Given the description of an element on the screen output the (x, y) to click on. 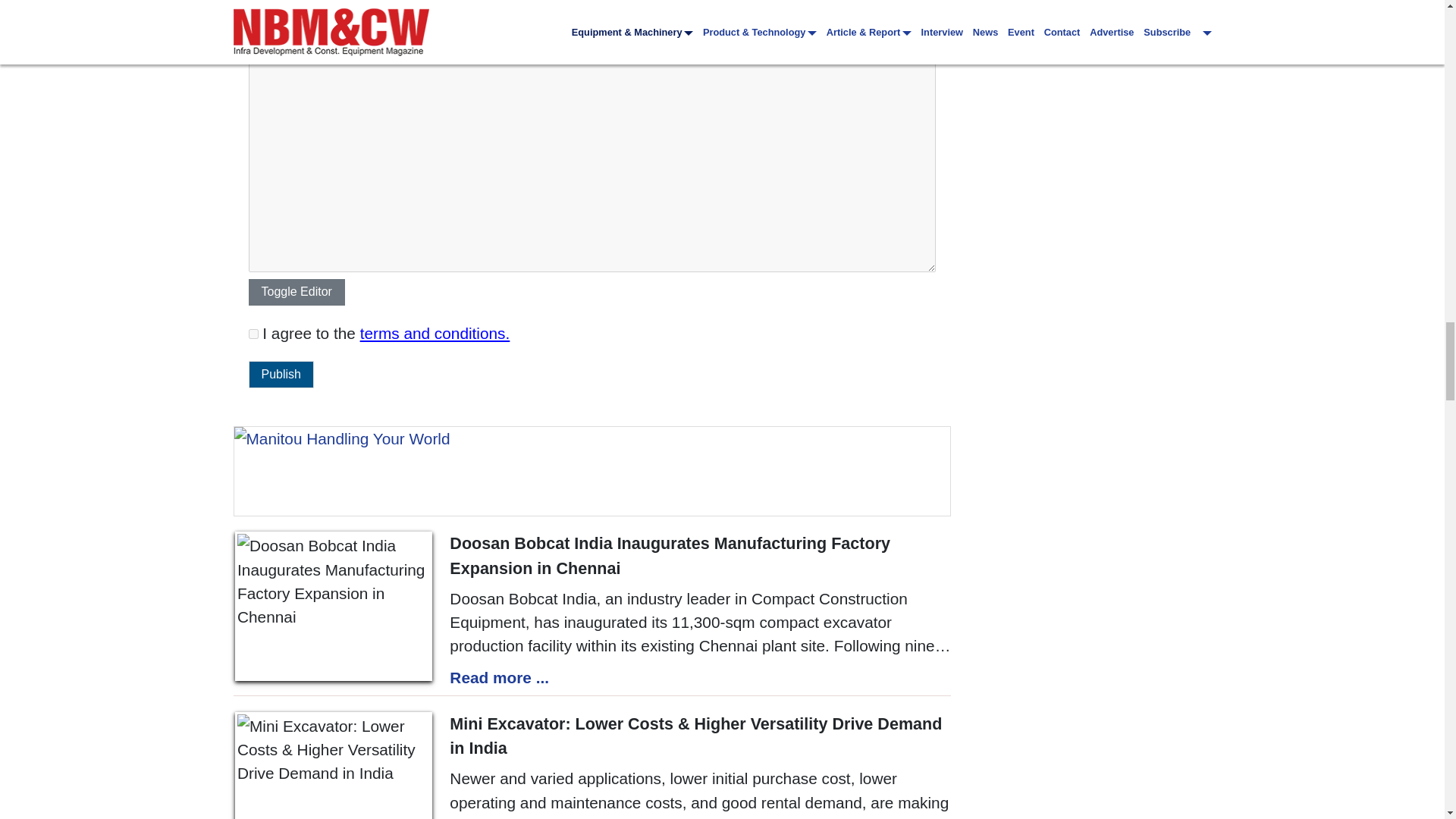
1 (253, 334)
Manitou Handling Your World (591, 470)
